Given the description of an element on the screen output the (x, y) to click on. 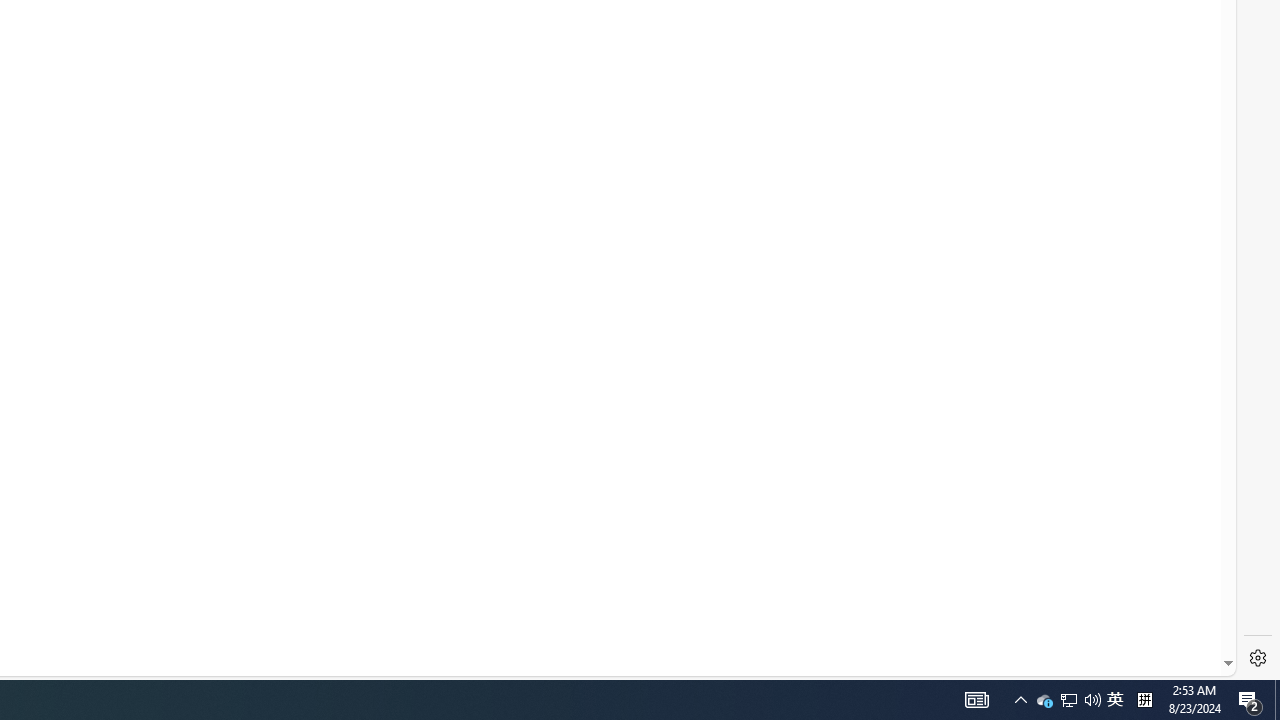
Settings (1258, 658)
